Given the description of an element on the screen output the (x, y) to click on. 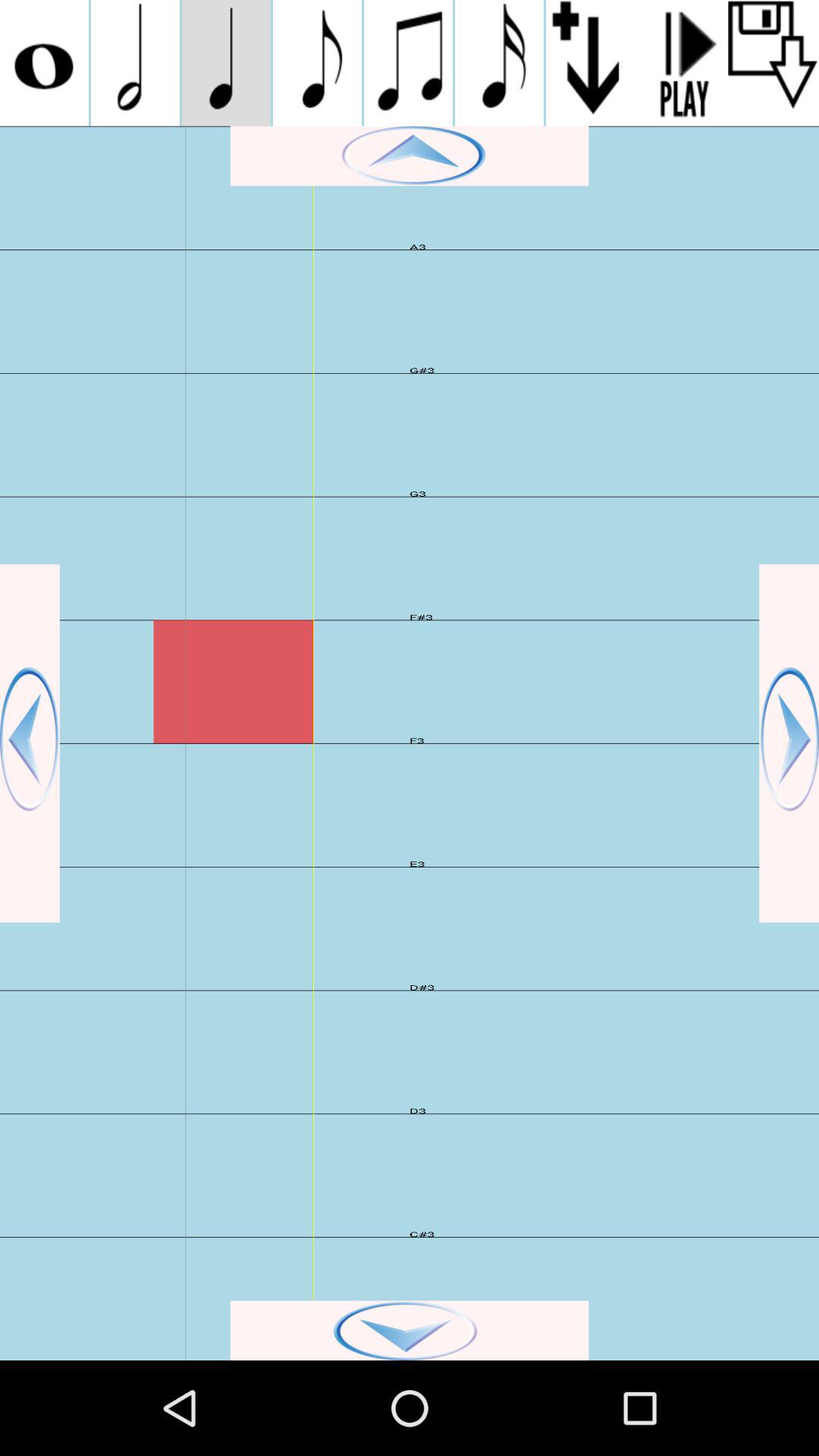
song note (226, 63)
